Given the description of an element on the screen output the (x, y) to click on. 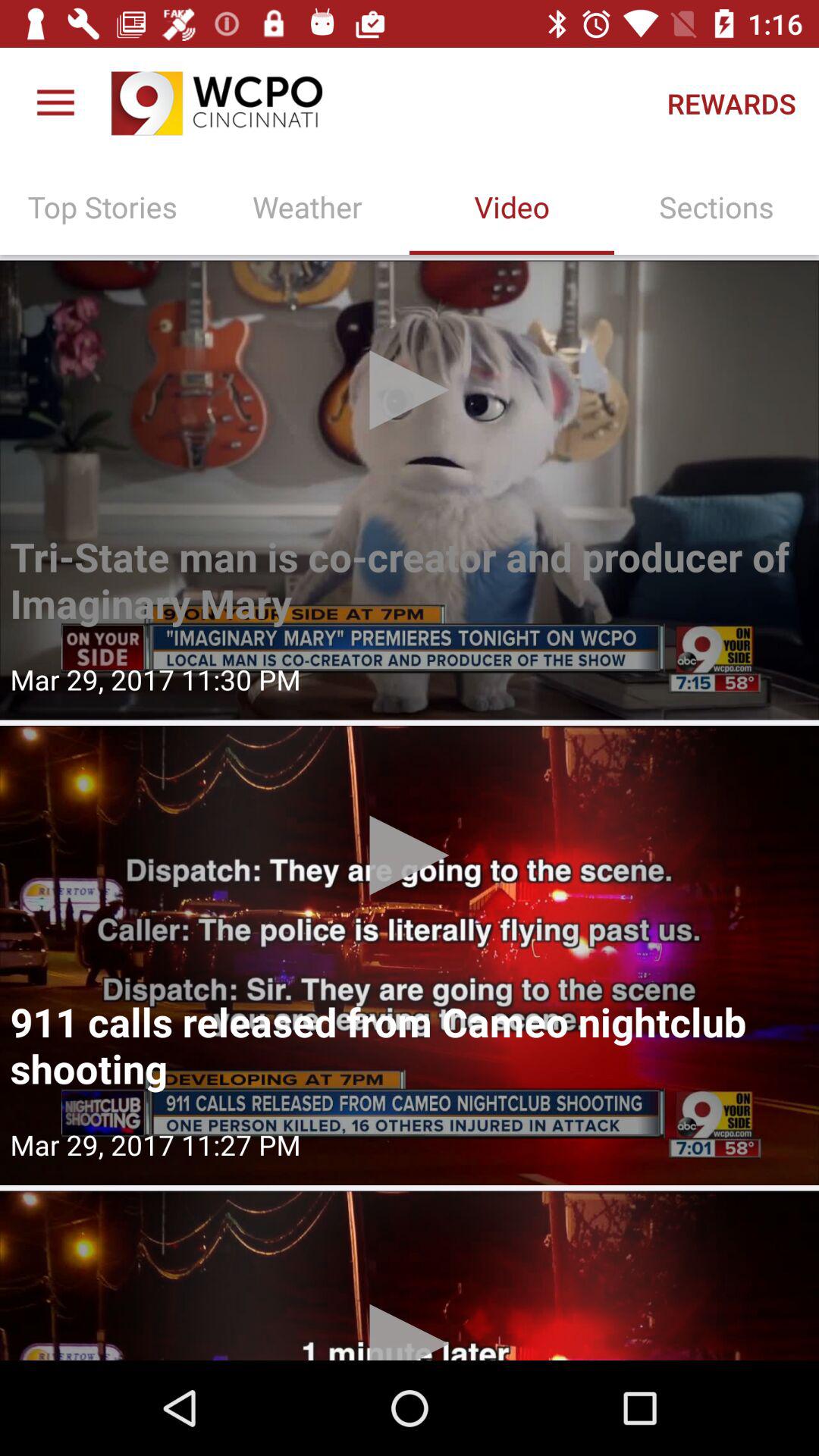
choose the item above the top stories item (55, 103)
